Given the description of an element on the screen output the (x, y) to click on. 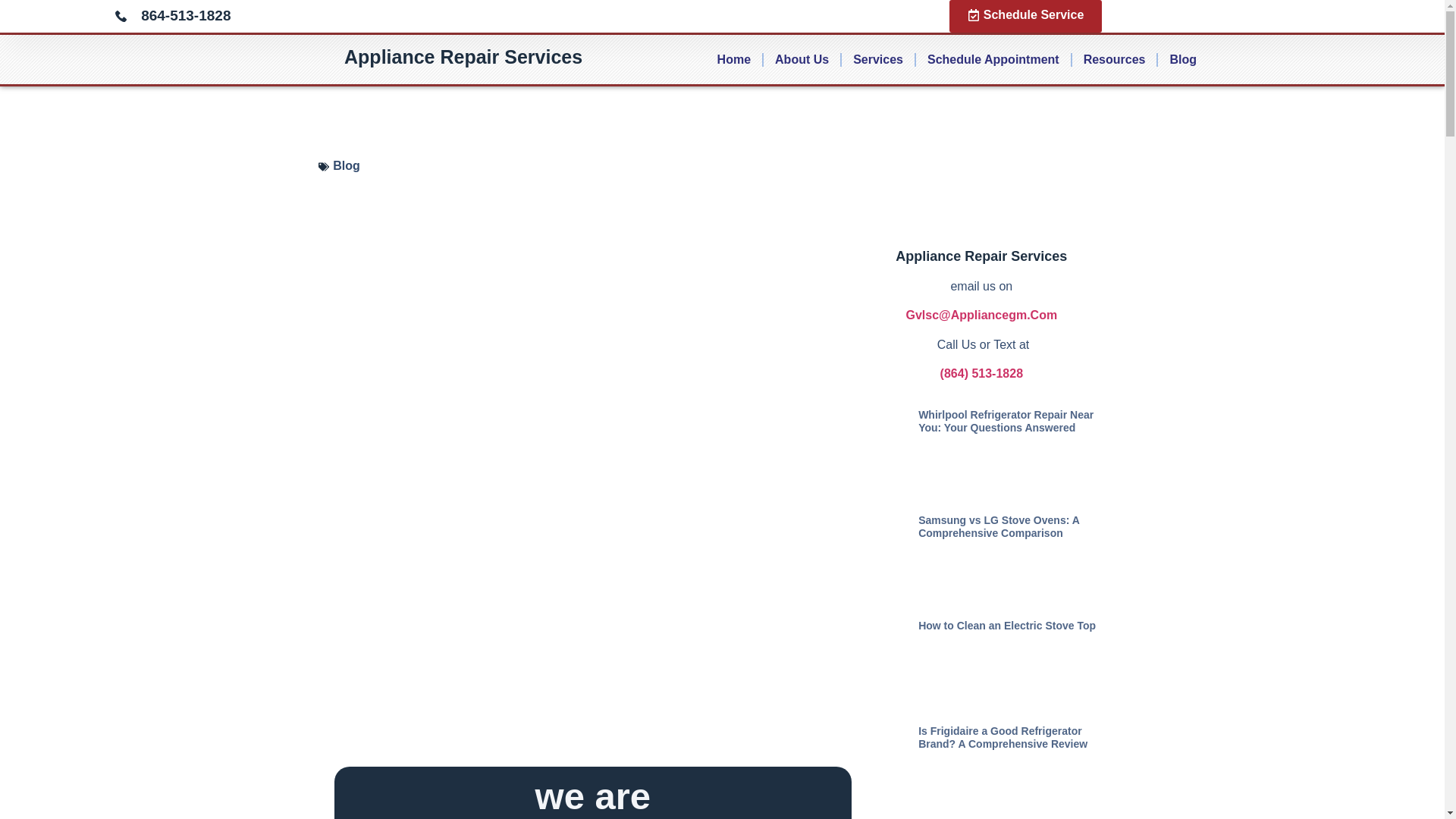
864-513-1828 (418, 15)
Resources (1114, 59)
Services (877, 59)
Schedule Appointment (993, 59)
Home (734, 59)
Schedule Service (1025, 16)
About Us (801, 59)
